Given the description of an element on the screen output the (x, y) to click on. 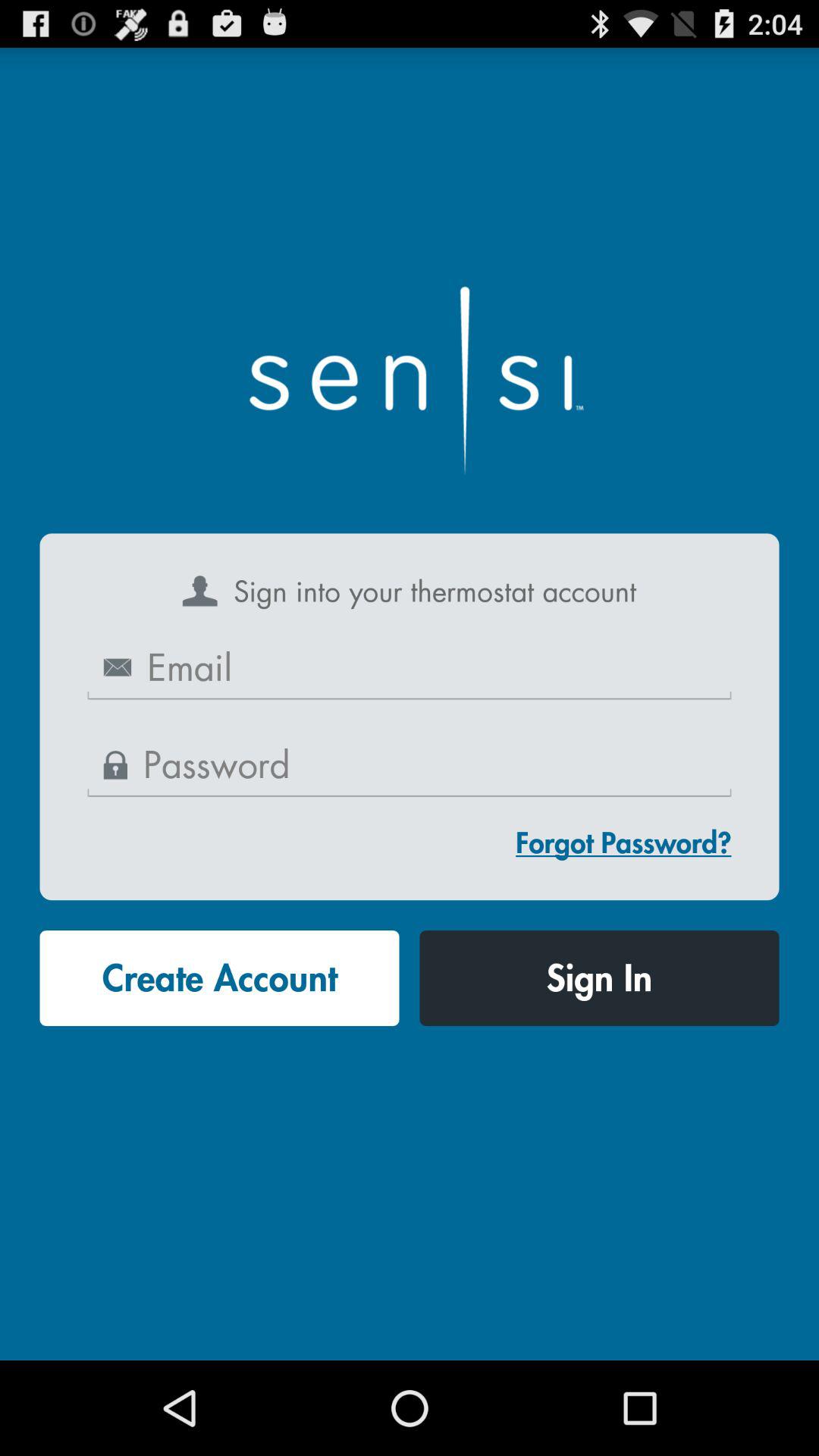
launch the item to the right of the create account (599, 978)
